Given the description of an element on the screen output the (x, y) to click on. 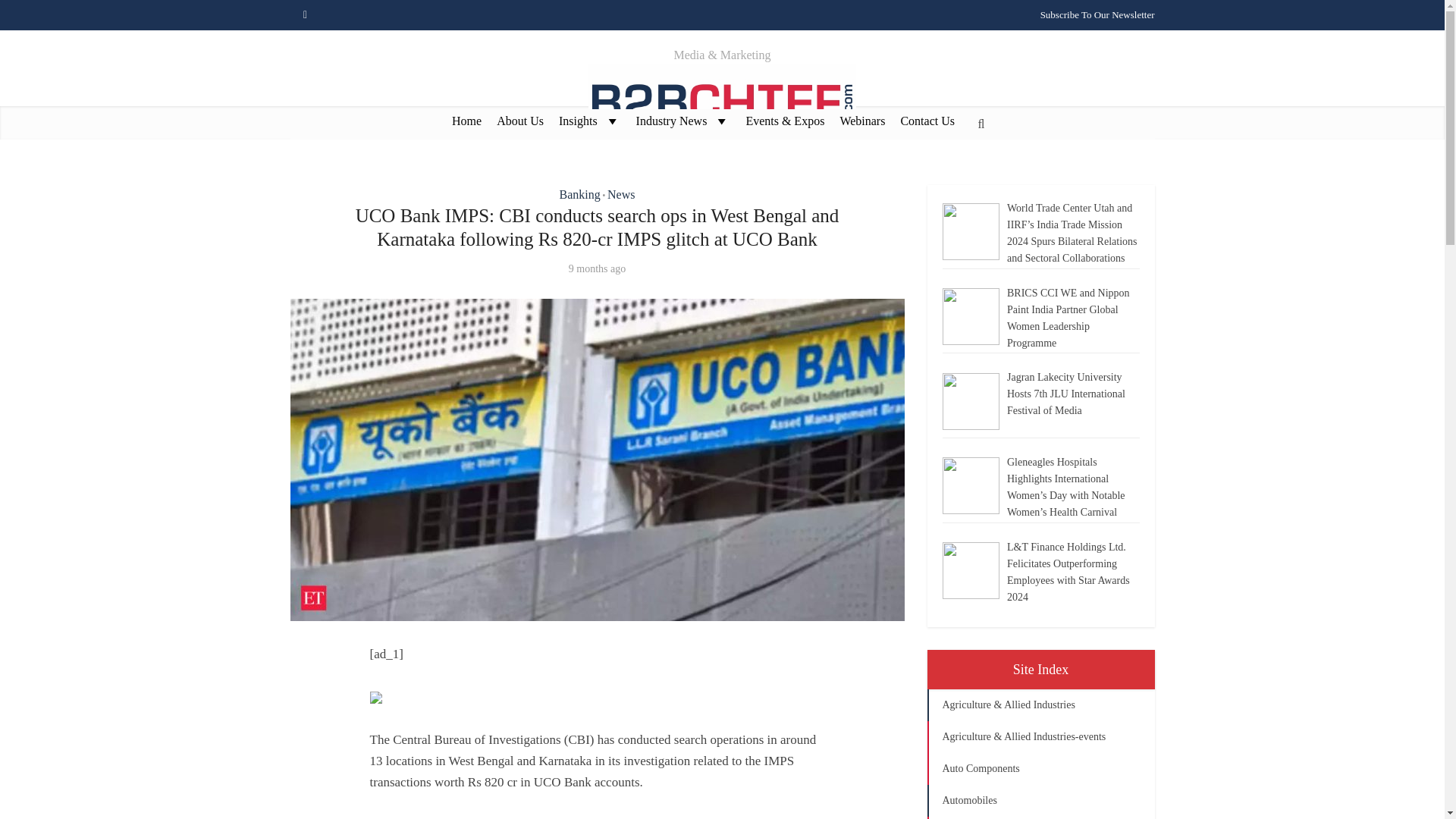
Insights (589, 119)
Industry News (683, 119)
About Us (520, 119)
Subscribe To Our Newsletter (1097, 14)
Home (466, 119)
